Given the description of an element on the screen output the (x, y) to click on. 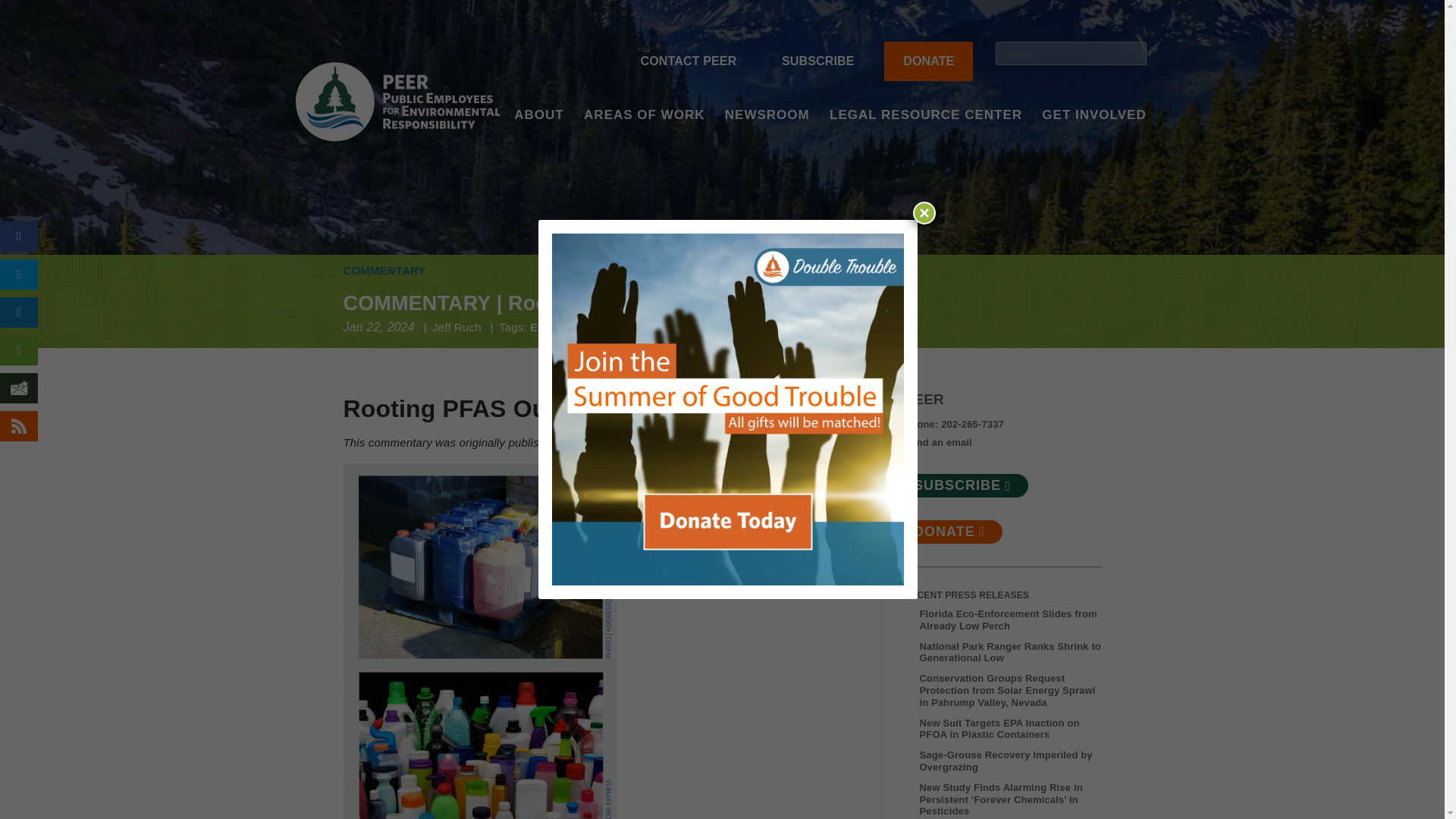
ABOUT (538, 135)
AREAS OF WORK (643, 135)
SUBSCRIBE (818, 60)
CONTACT PEER (689, 60)
DONATE (928, 60)
